Given the description of an element on the screen output the (x, y) to click on. 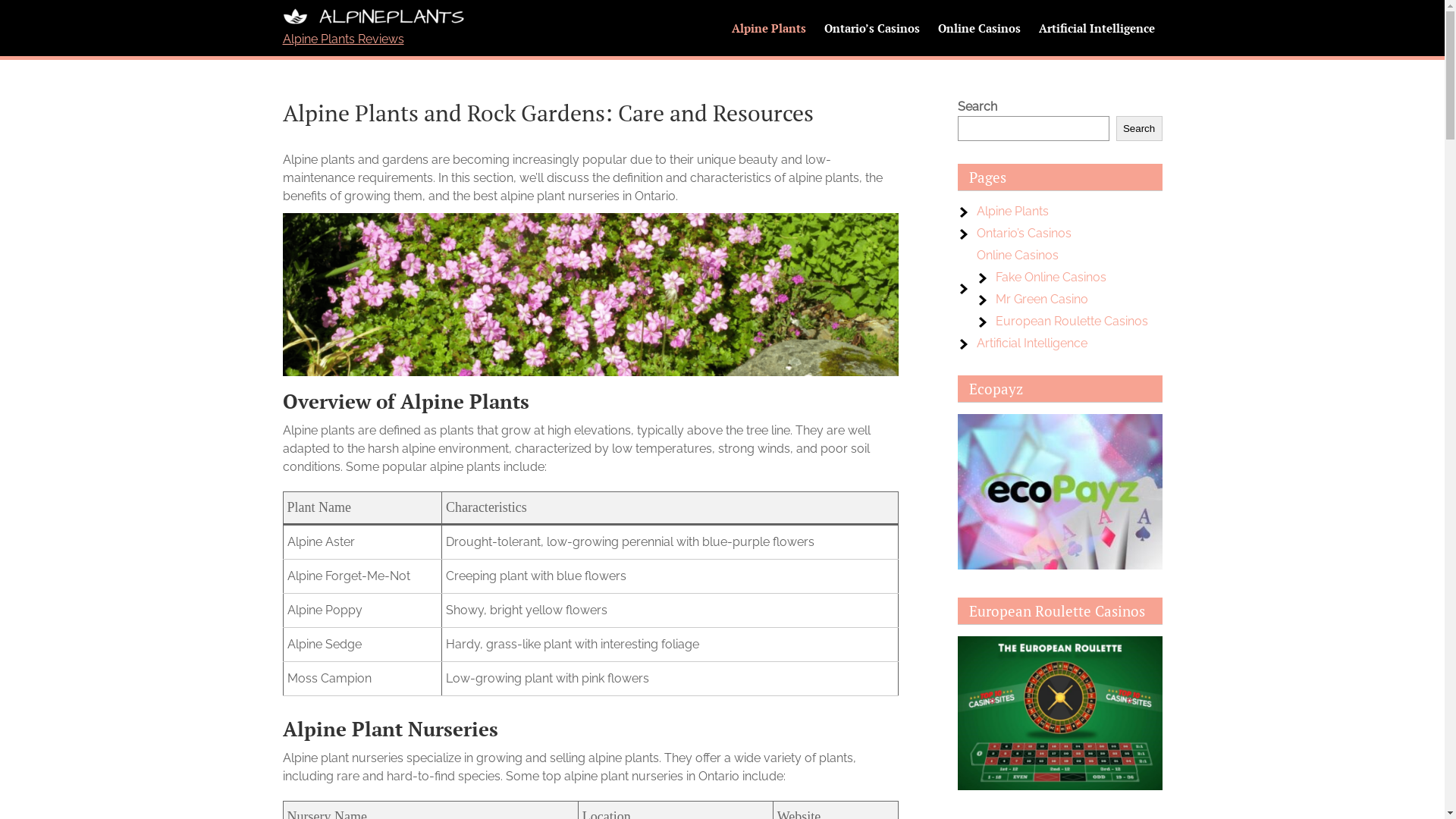
Search Element type: text (1139, 128)
Online Casinos Element type: text (1017, 254)
Alpine Plants Element type: text (767, 27)
Artificial Intelligence Element type: text (1096, 27)
Online Casinos Element type: text (978, 27)
European Roulette Casinos Element type: text (1070, 320)
Artificial Intelligence Element type: text (1031, 342)
Fake Online Casinos Element type: text (1049, 276)
Alpine Plants Reviews Element type: text (342, 38)
Mr Green Casino Element type: text (1040, 298)
Alpine Plants Element type: text (1012, 210)
